Given the description of an element on the screen output the (x, y) to click on. 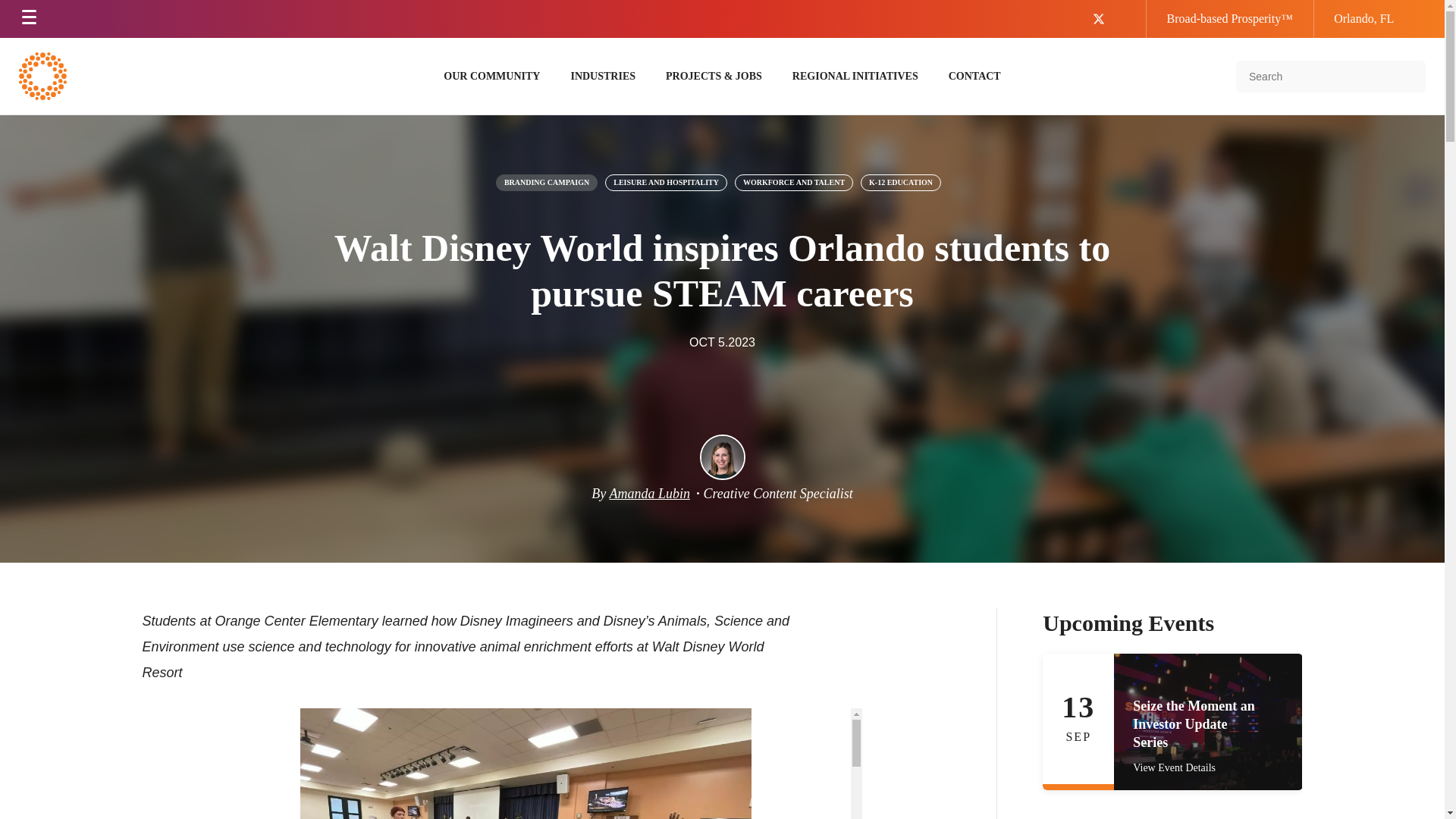
Submit Search (1406, 76)
Seize the Moment an Investor Update Series 18 (1207, 721)
CONTACT (974, 75)
OUR COMMUNITY (491, 75)
Submit Search (1406, 76)
TWITTER (1109, 19)
REGIONAL INITIATIVES (855, 75)
INDUSTRIES (602, 75)
